Given the description of an element on the screen output the (x, y) to click on. 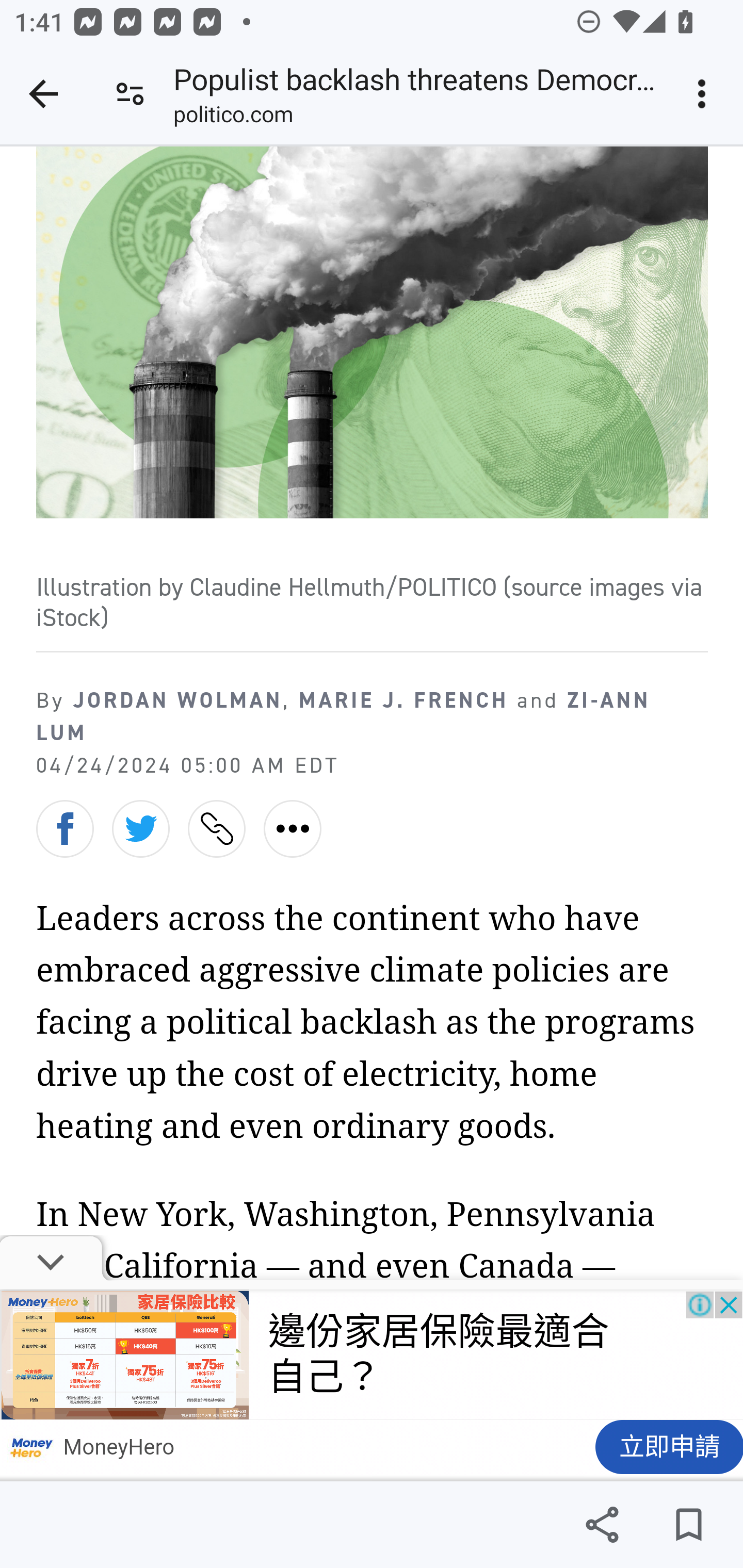
Close tab (43, 93)
Customize and control Google Chrome (705, 93)
Connection is secure (129, 93)
politico.com (232, 117)
ZI-ANN LUM (343, 716)
JORDAN WOLMAN (177, 699)
MARIE J. FRENCH (402, 699)
Share (601, 1524)
Save for later (688, 1524)
